Given the description of an element on the screen output the (x, y) to click on. 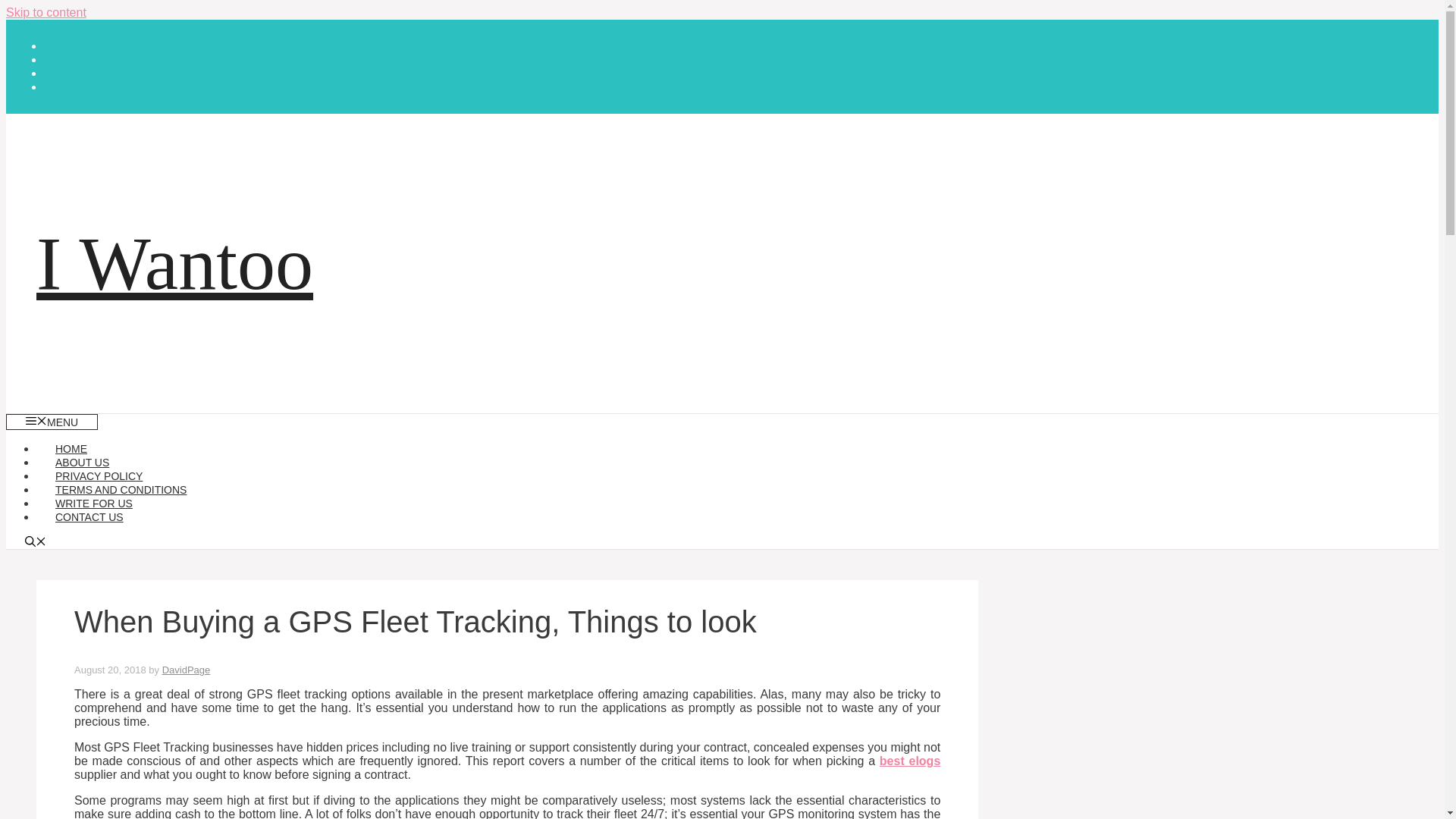
TERMS AND CONDITIONS (120, 490)
Skip to content (45, 11)
WRITE FOR US (93, 503)
ABOUT US (82, 462)
View all posts by DavidPage (186, 669)
PRIVACY POLICY (98, 476)
Skip to content (45, 11)
CONTACT US (89, 517)
MENU (51, 421)
best elogs (909, 760)
